Given the description of an element on the screen output the (x, y) to click on. 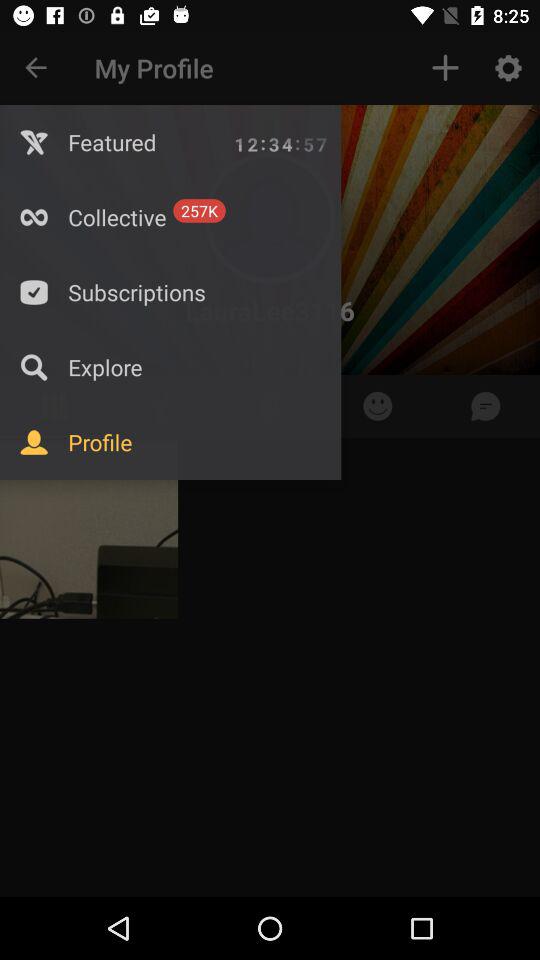
open the icon next to the my profile icon (444, 68)
